Given the description of an element on the screen output the (x, y) to click on. 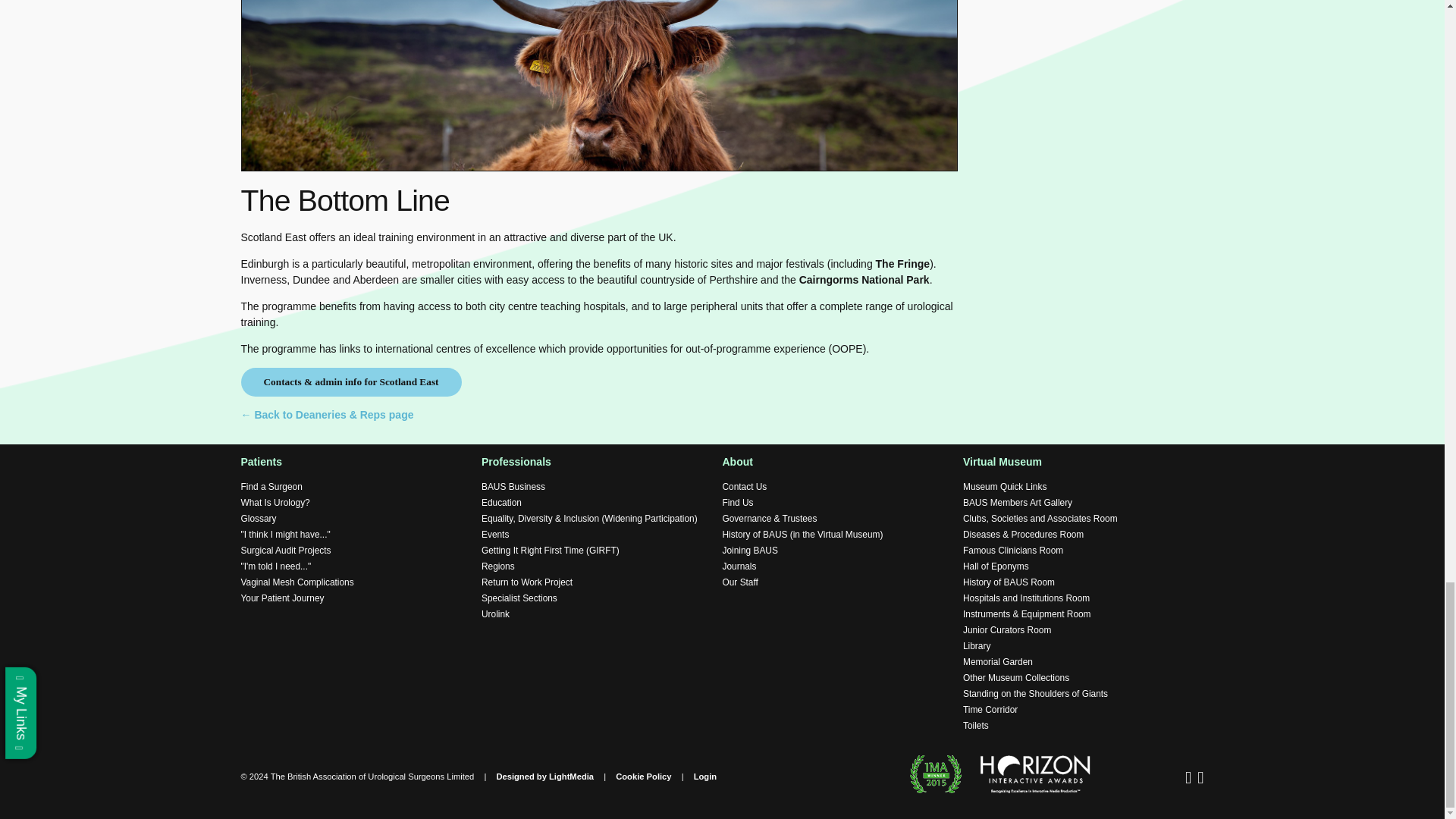
Horizon Interactive Awards Winner 2015 (1026, 774)
Interactive Media Awards Winner 2015 (935, 774)
